Given the description of an element on the screen output the (x, y) to click on. 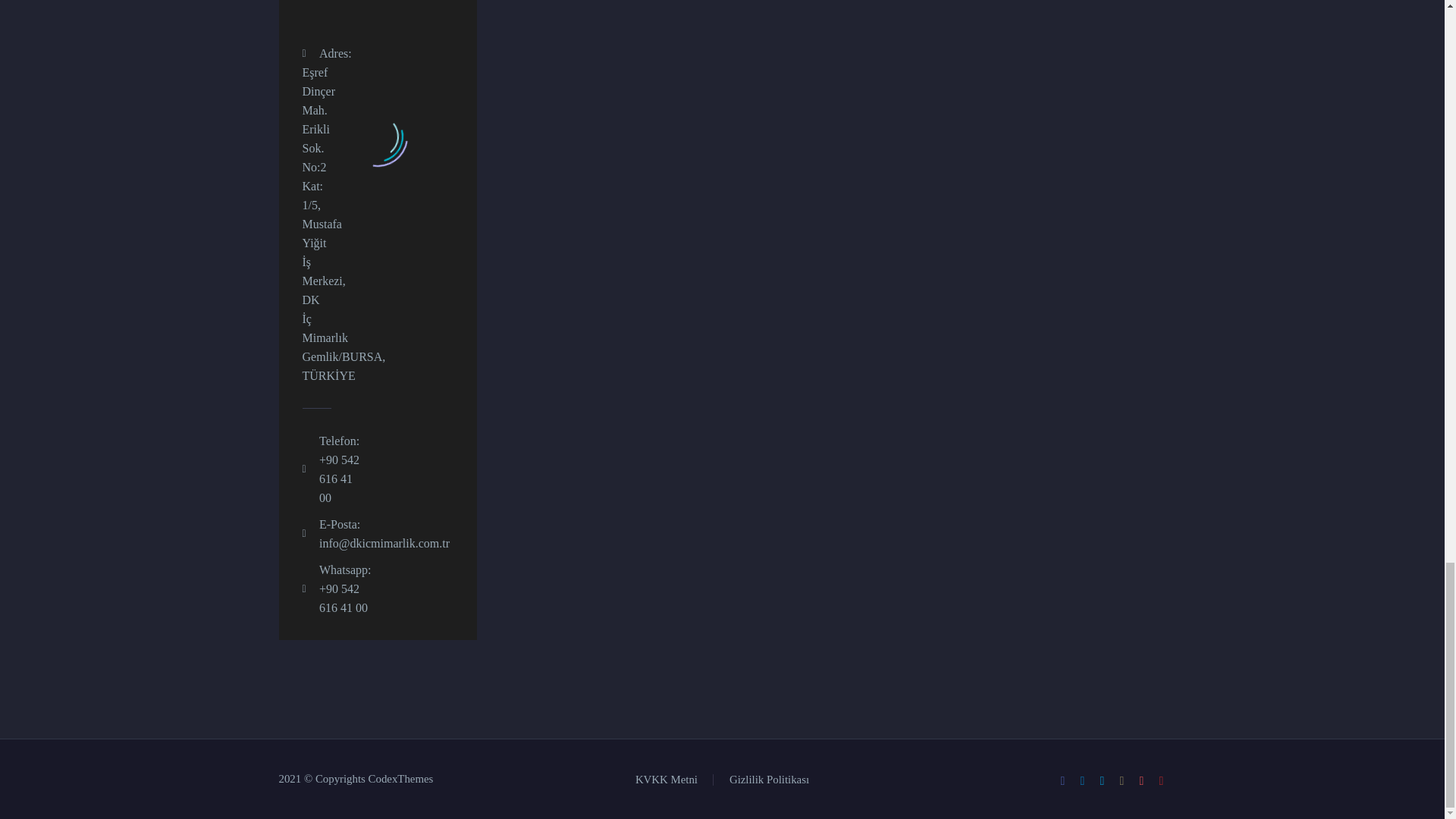
LinkedIn (1083, 780)
Twitter (1102, 780)
Facebook (1062, 780)
Instagram (1122, 780)
YouTube (1161, 780)
Pinterest (1141, 780)
